Given the description of an element on the screen output the (x, y) to click on. 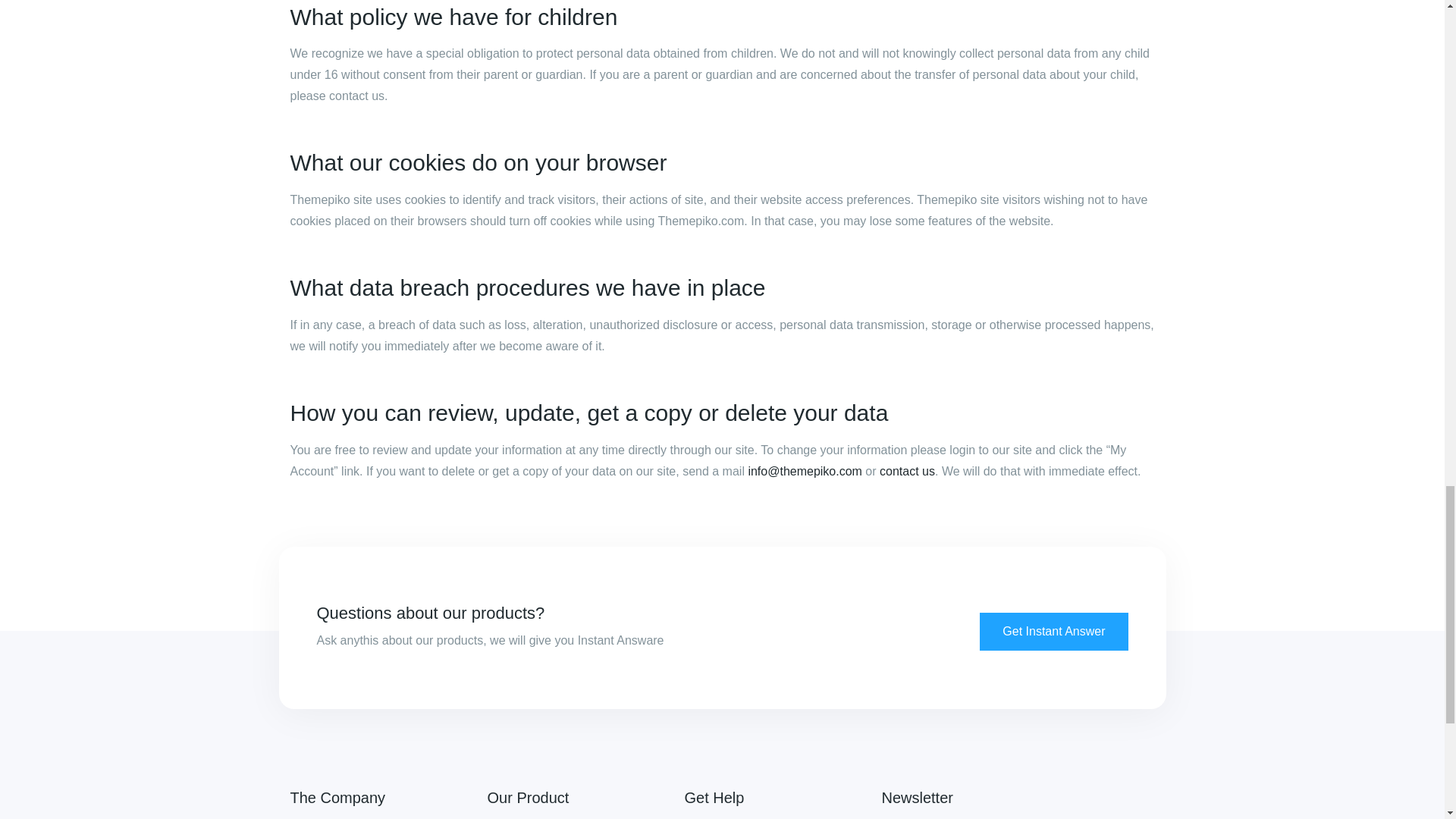
contact us (906, 470)
